Given the description of an element on the screen output the (x, y) to click on. 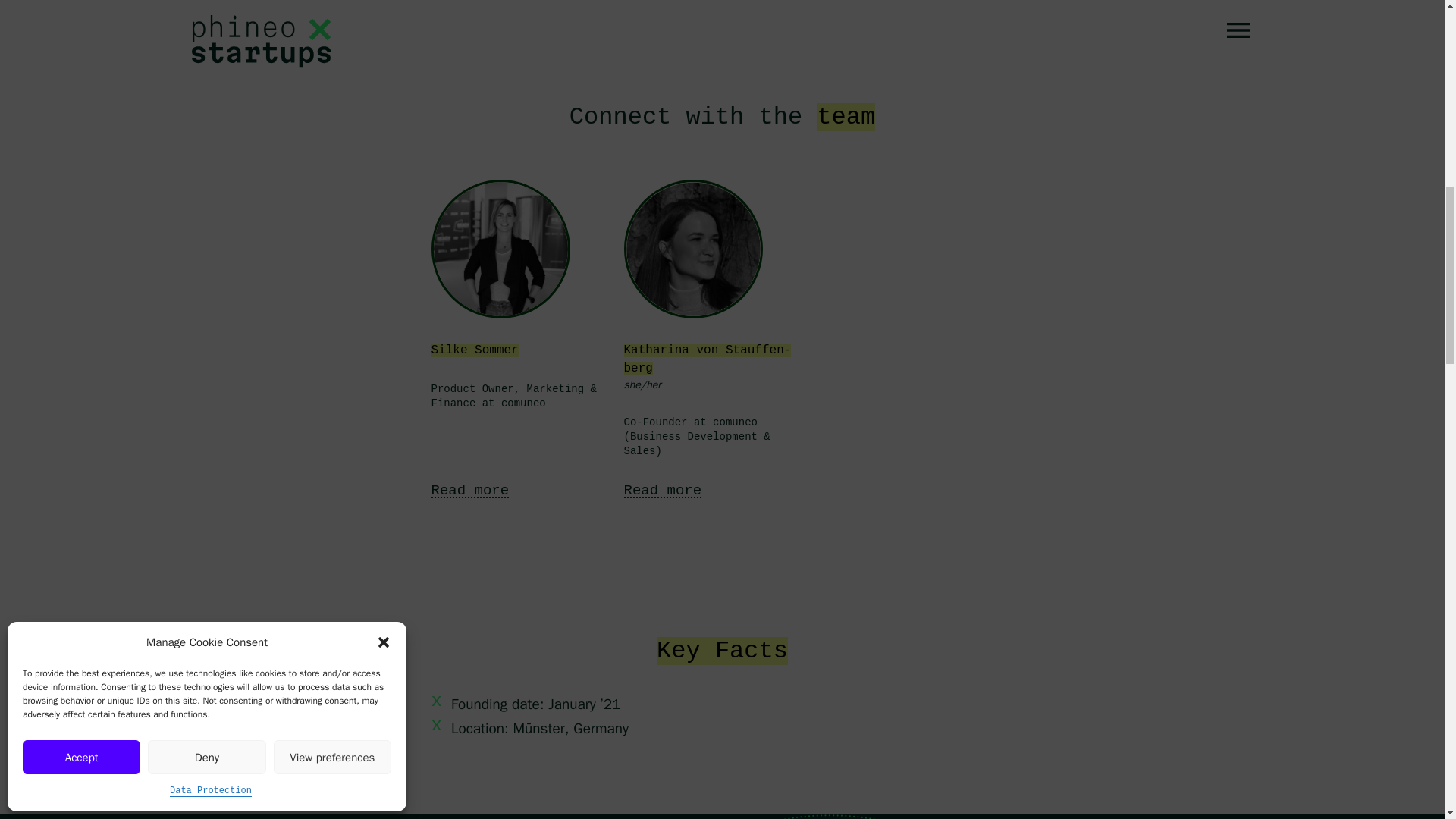
Read more (469, 490)
Read more (662, 490)
